Given the description of an element on the screen output the (x, y) to click on. 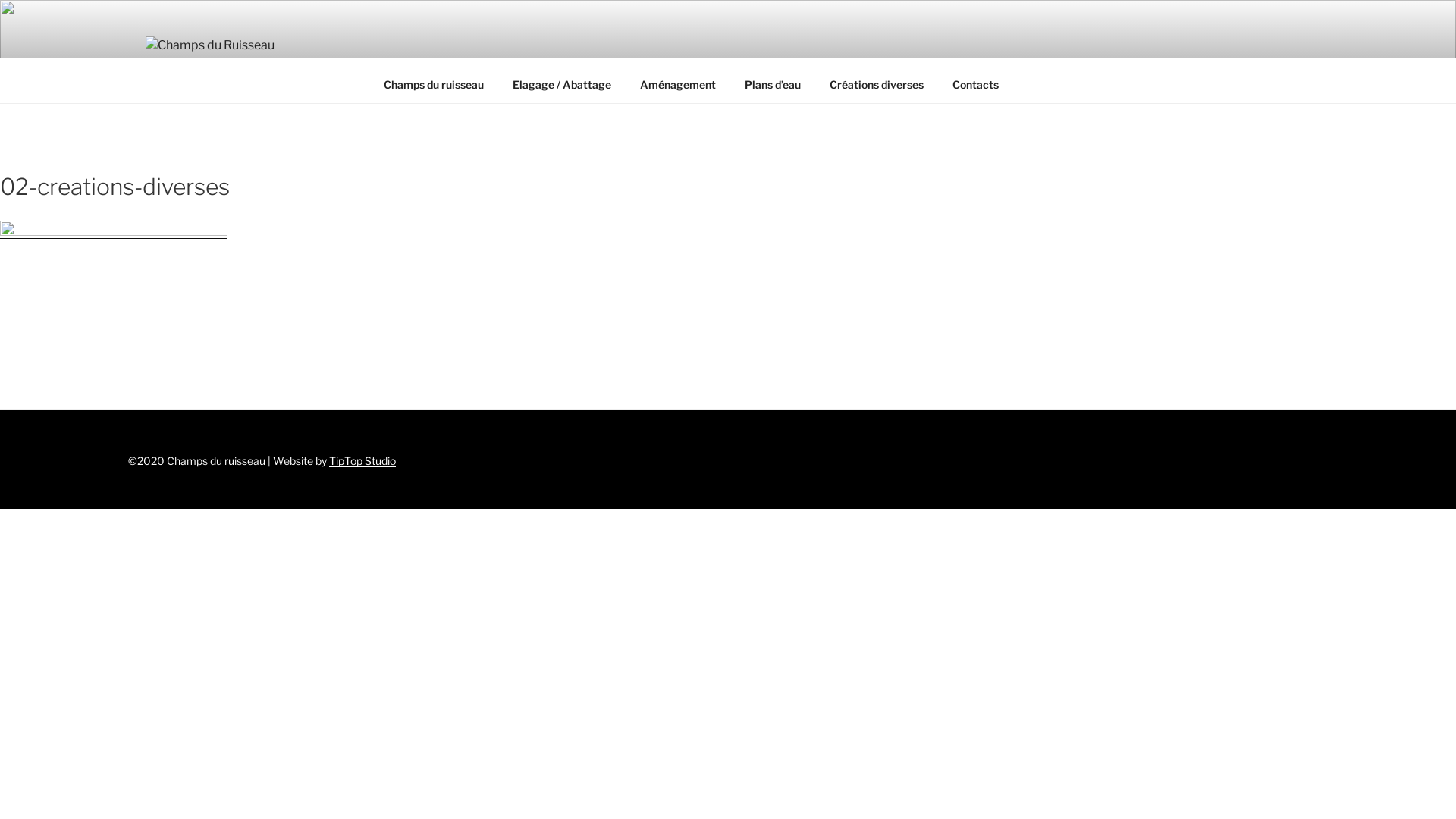
CHAMPS DU RUISSEAU Element type: text (325, 83)
Champs du ruisseau Element type: text (433, 84)
TipTop Studio Element type: text (362, 460)
Elagage / Abattage Element type: text (561, 84)
Contacts Element type: text (974, 84)
